Given the description of an element on the screen output the (x, y) to click on. 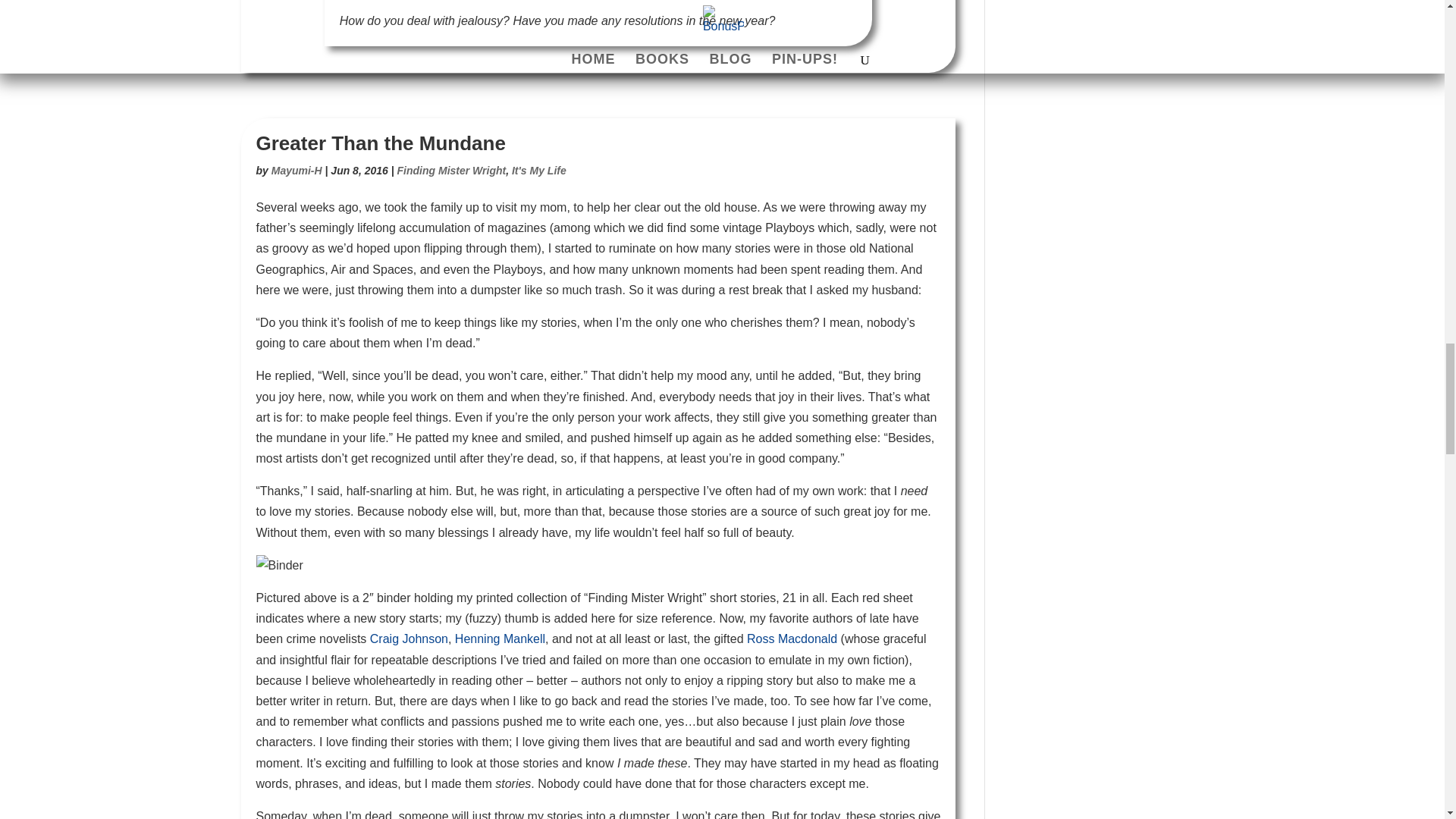
Posts by Mayumi-H (295, 170)
Finding Mister Wright (451, 170)
Greater Than the Mundane (380, 142)
Henning Mankell (499, 638)
Ross Macdonald (791, 638)
Mayumi-H (295, 170)
Craig Johnson (408, 638)
It's My Life (539, 170)
